Given the description of an element on the screen output the (x, y) to click on. 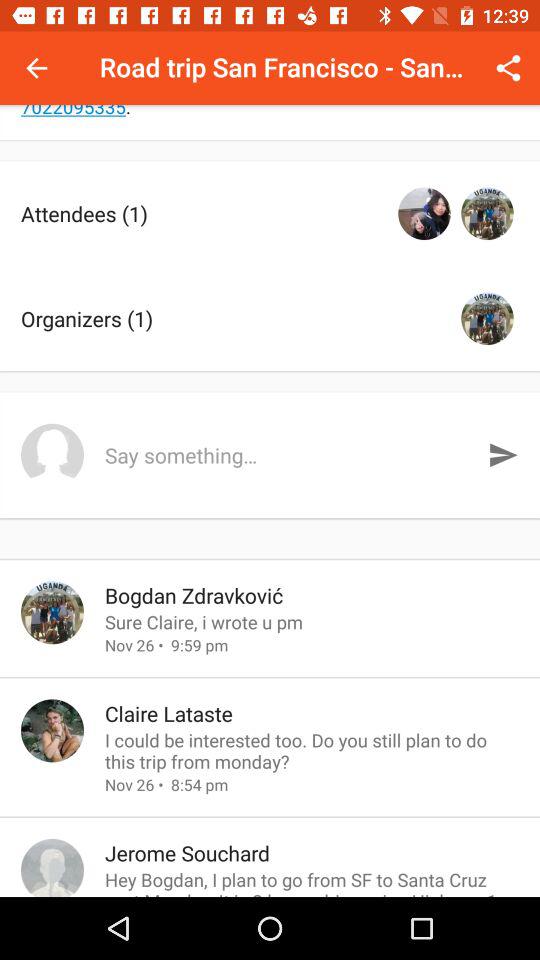
jump until hey bogdan i (312, 881)
